Given the description of an element on the screen output the (x, y) to click on. 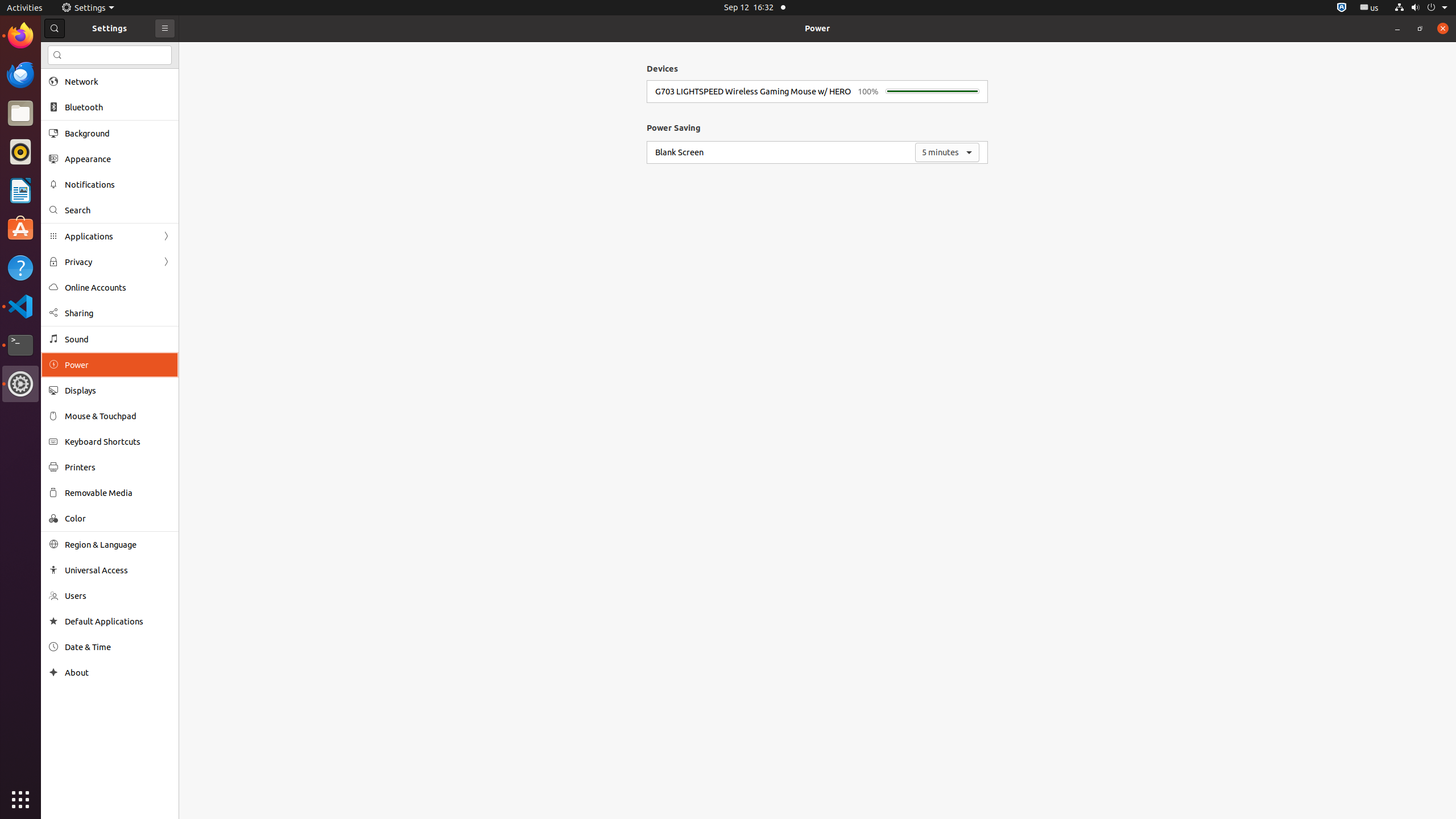
Terminal Element type: push-button (20, 344)
Power Element type: label (816, 27)
Default Applications Element type: label (117, 621)
